Given the description of an element on the screen output the (x, y) to click on. 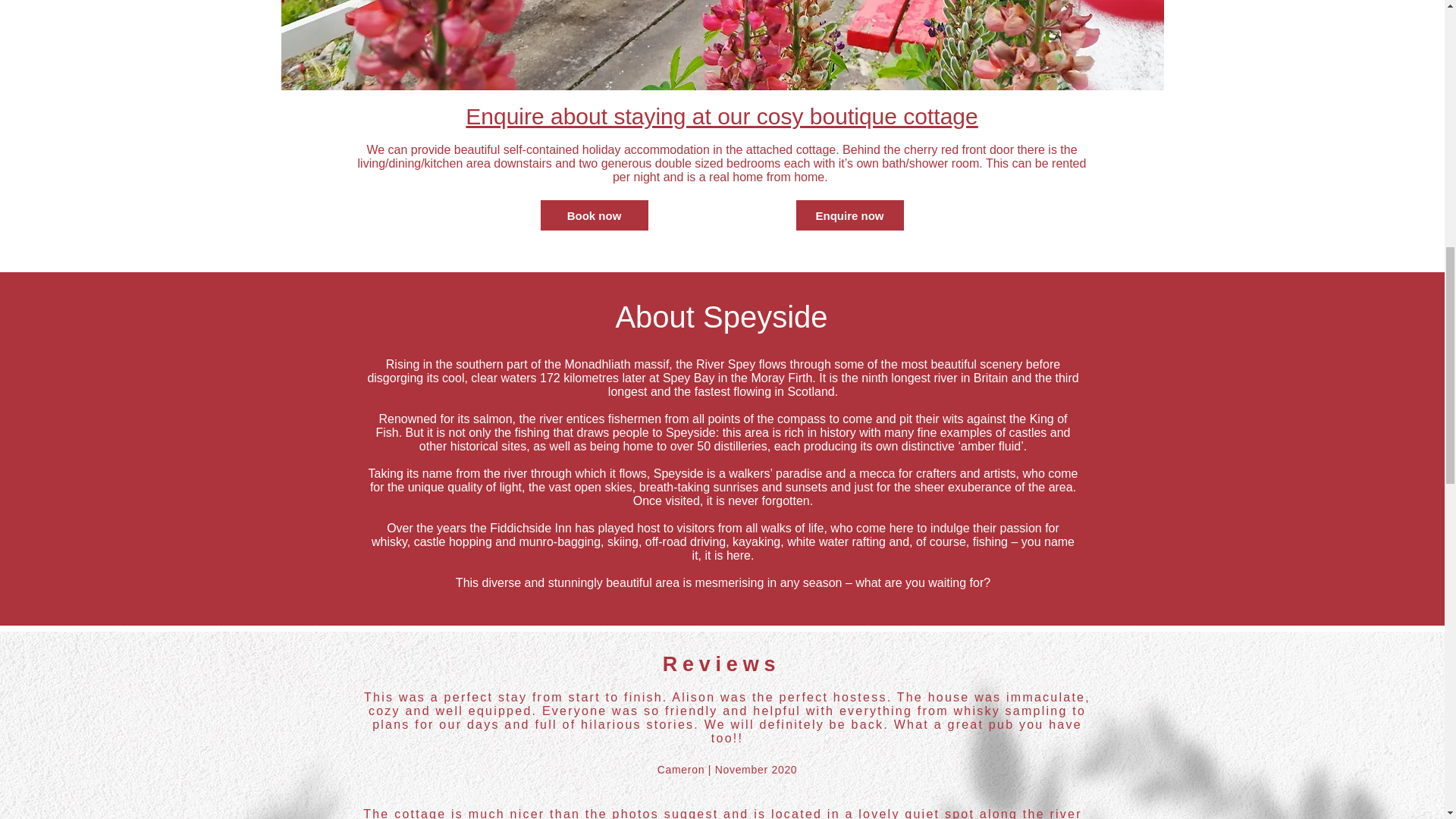
Enquire about staying at our cosy boutique cottage (720, 116)
Enquire now (850, 214)
Book now (593, 214)
